Given the description of an element on the screen output the (x, y) to click on. 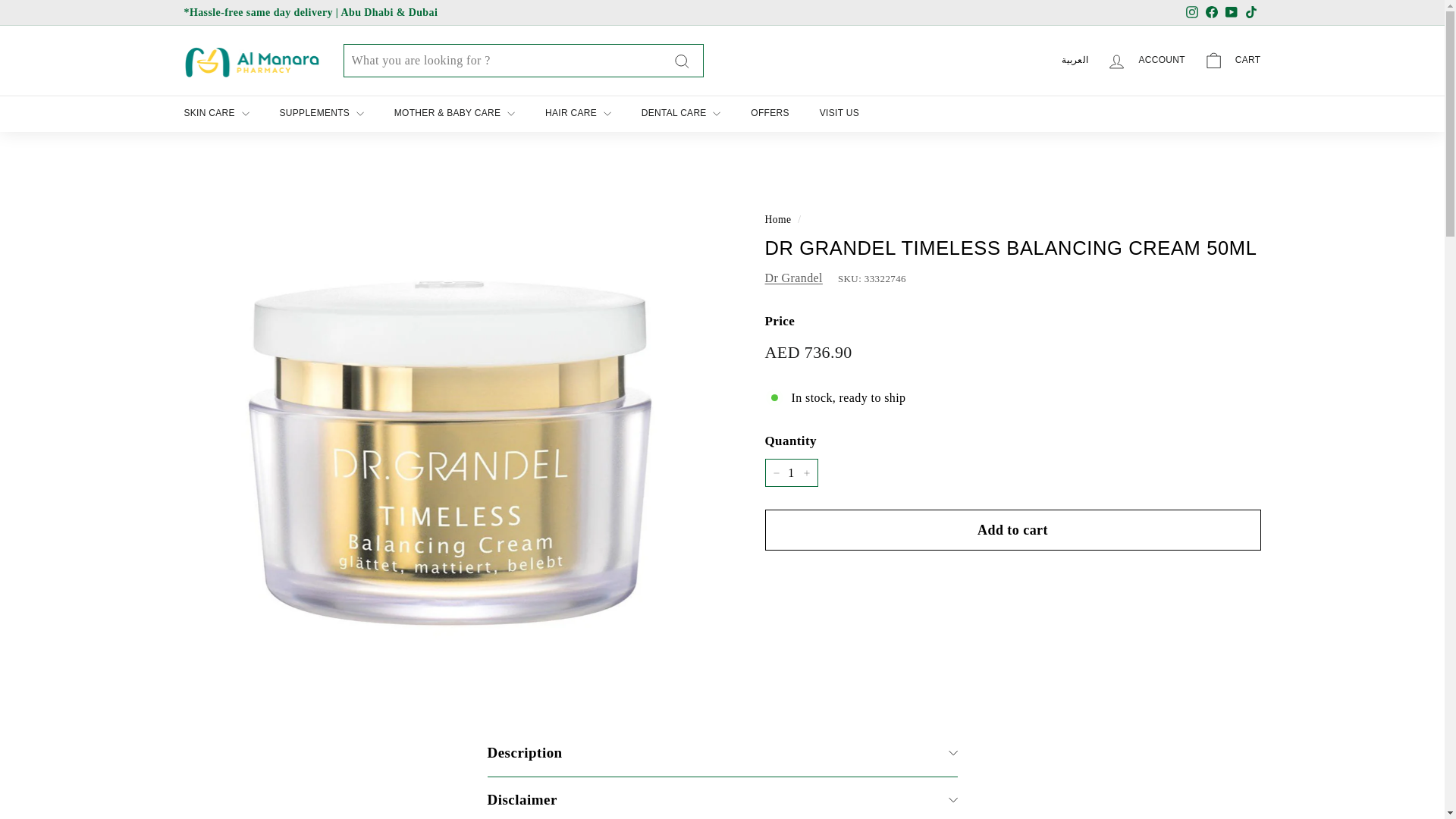
1 (790, 472)
instagram (1192, 11)
Back to the frontpage (777, 219)
ACCOUNT (1145, 60)
